Given the description of an element on the screen output the (x, y) to click on. 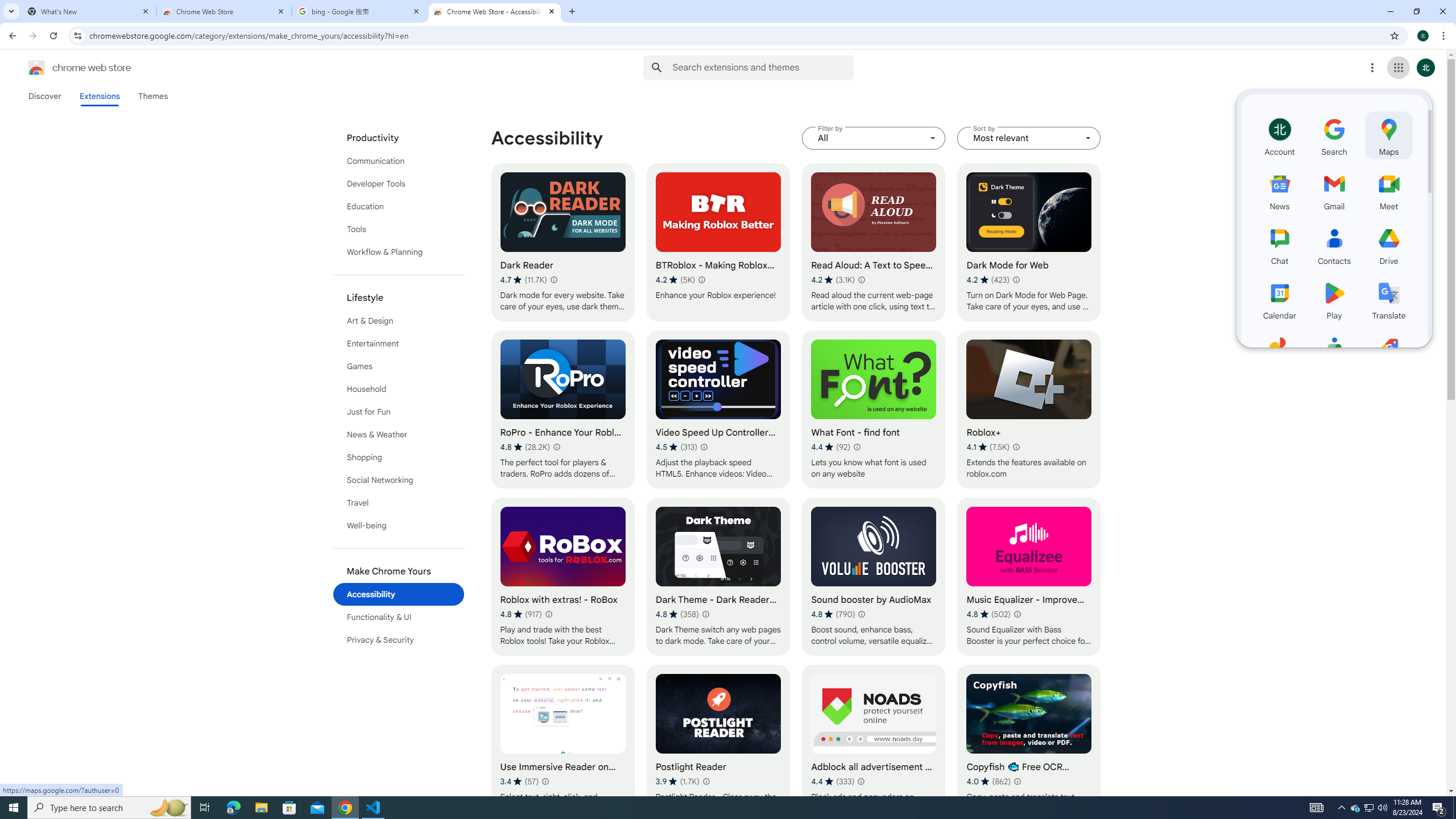
Forward (32, 35)
Average rating 4.2 out of 5 stars. 423 ratings. (988, 279)
News & Weather (398, 434)
New Tab (571, 11)
Average rating 4.0 out of 5 stars. 862 ratings. (988, 781)
Sound booster by AudioMax (874, 576)
Entertainment (398, 343)
Filter by All (874, 137)
Minimize (1390, 11)
Restore (1416, 11)
